Given the description of an element on the screen output the (x, y) to click on. 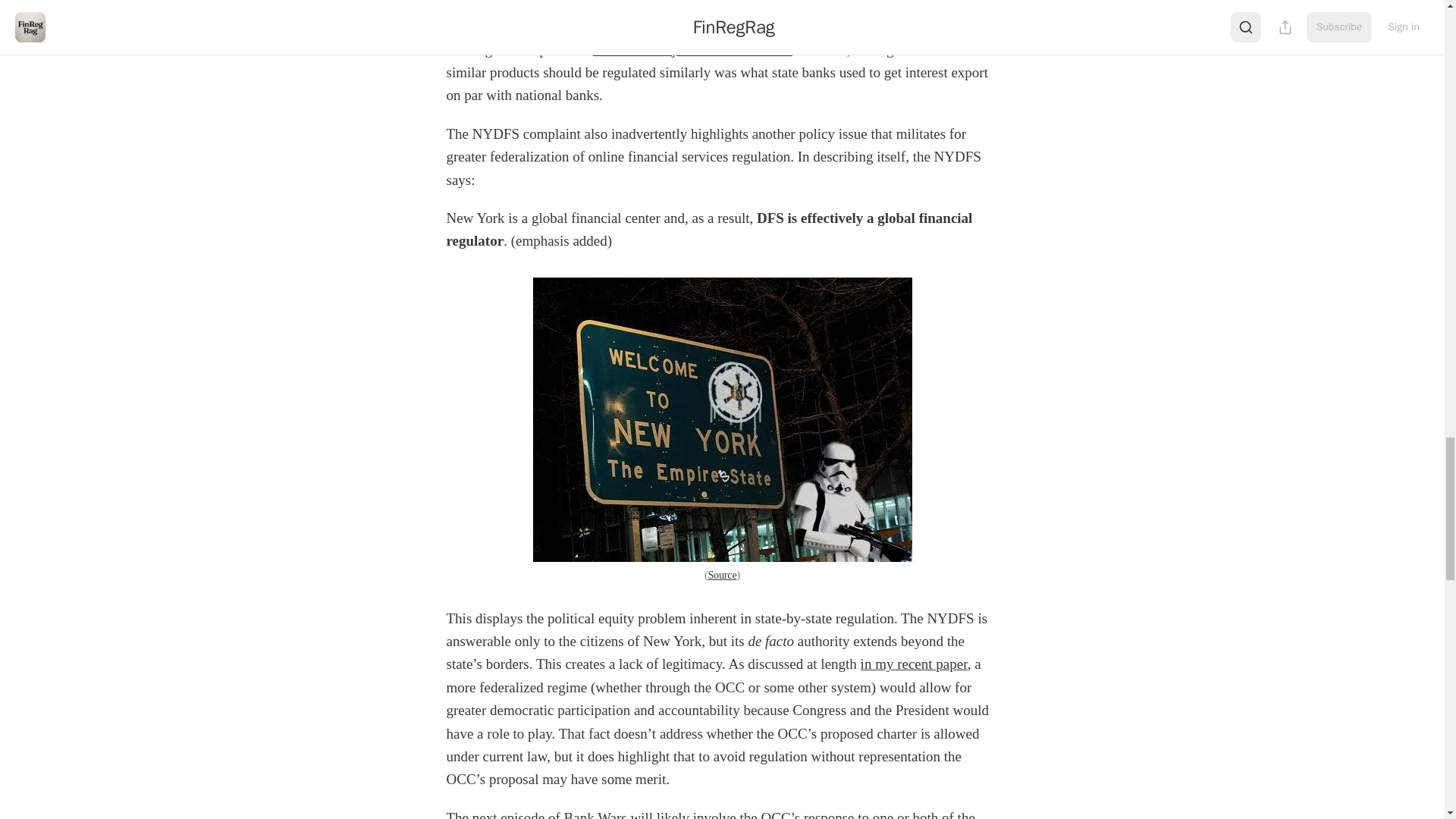
should be subject to different rules (692, 49)
